Given the description of an element on the screen output the (x, y) to click on. 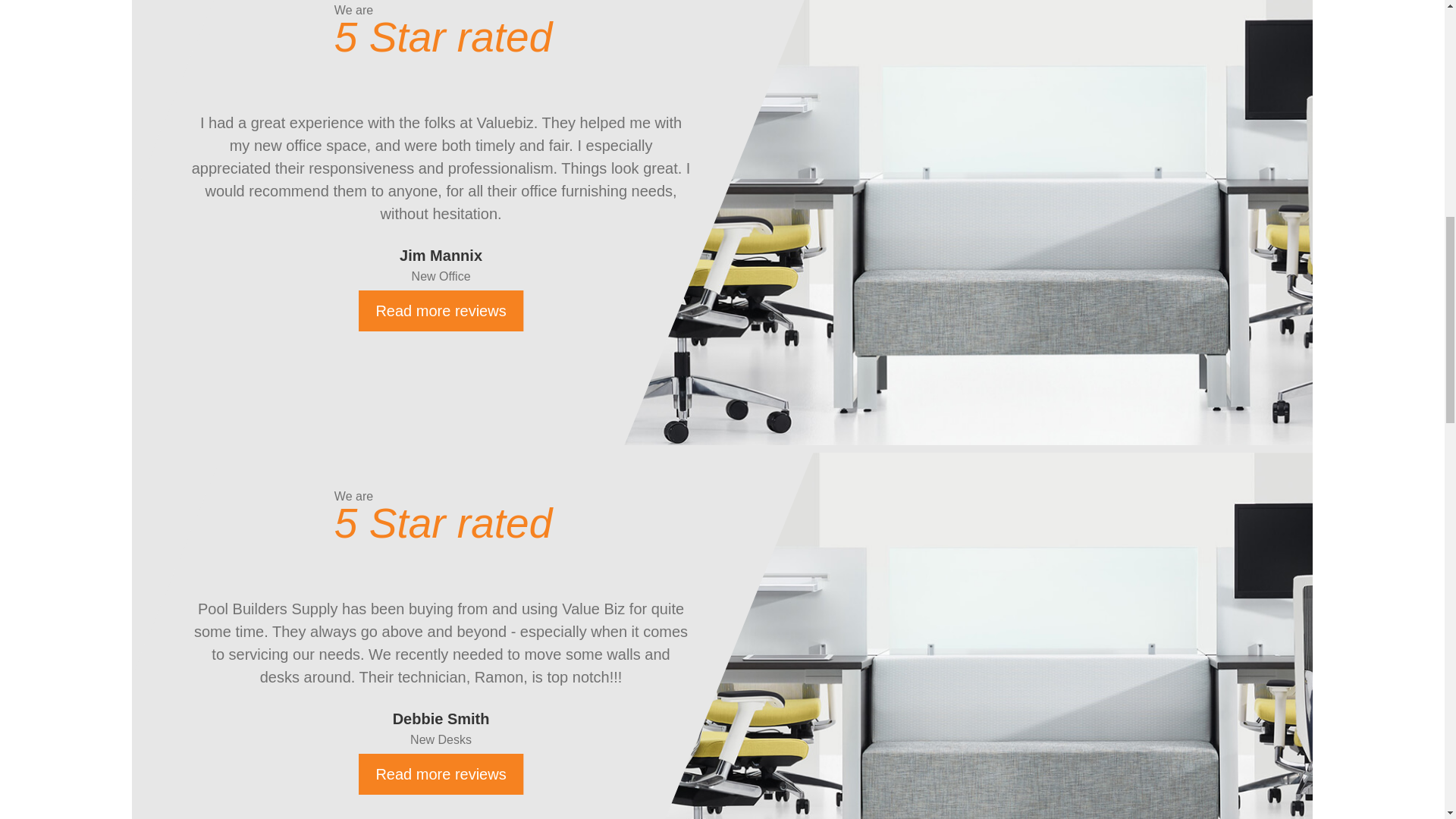
Read more reviews (440, 310)
Read more reviews (440, 773)
